Given the description of an element on the screen output the (x, y) to click on. 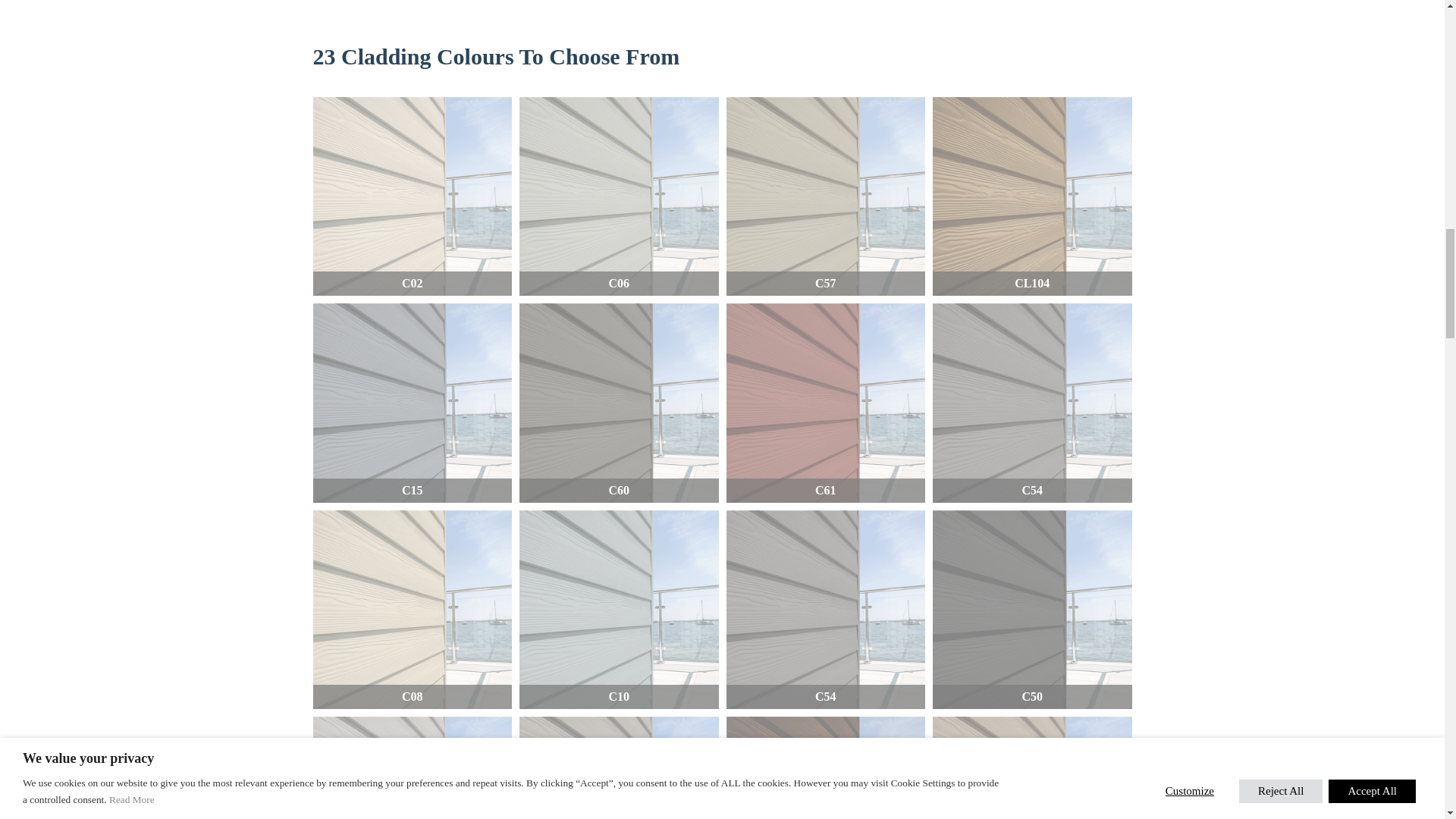
CL104 (826, 767)
C14 (1032, 767)
C61 (826, 402)
CL104 (1032, 196)
C02 (412, 196)
C52 (619, 767)
C50 (1032, 610)
C08 (412, 610)
C10 (619, 610)
C05 (412, 767)
C60 (619, 402)
C15 (412, 402)
C54 (1032, 402)
C54 (826, 610)
C06 (619, 196)
